Given the description of an element on the screen output the (x, y) to click on. 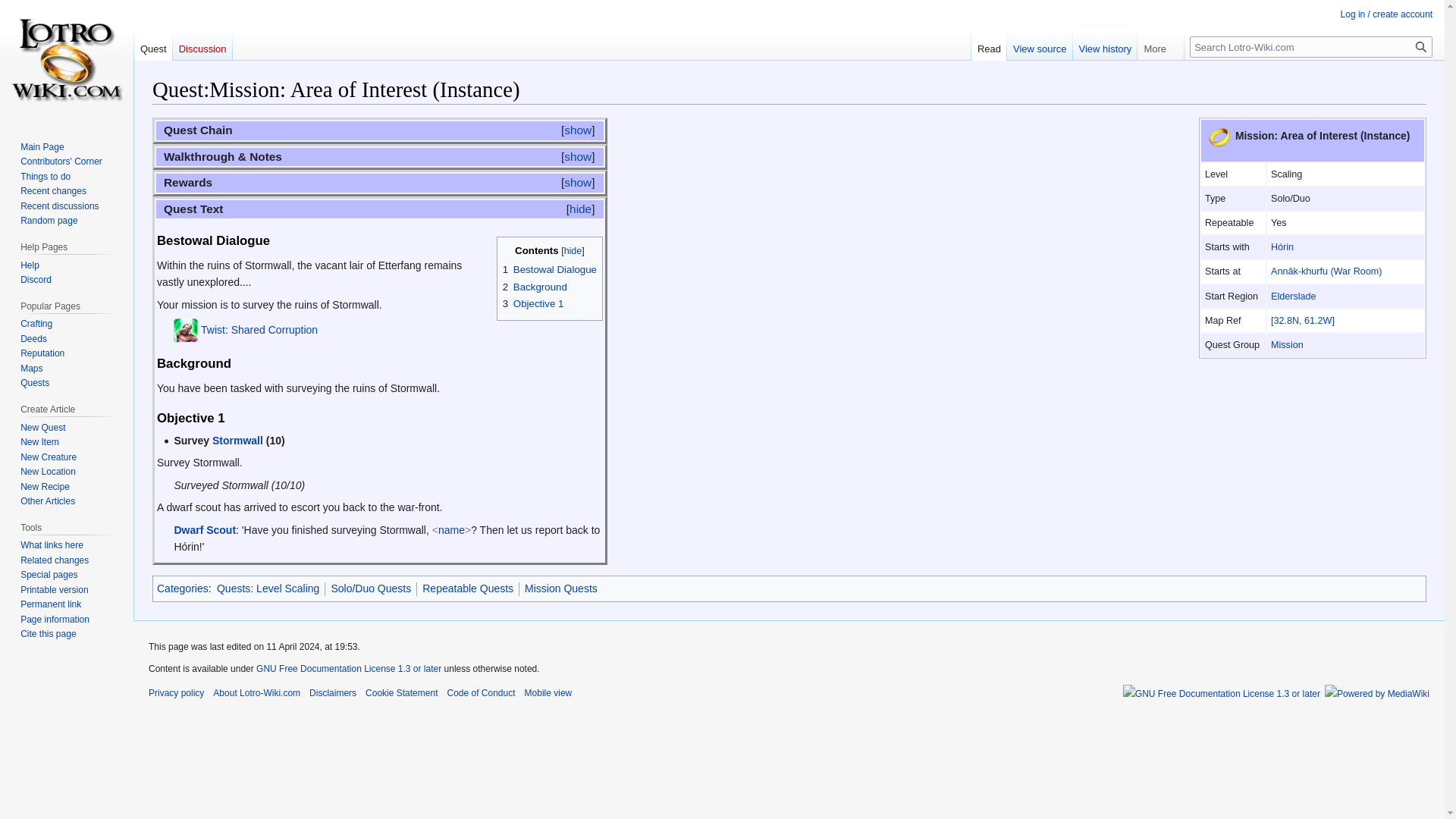
Go (1420, 46)
Mission (1287, 344)
show (577, 129)
Elderslade (1293, 296)
Search (1420, 46)
Search (1420, 46)
Go (1420, 46)
File:Elderslade map.jpg (1303, 320)
Elderslade (1293, 296)
Category:Mission Quests (1287, 344)
